Given the description of an element on the screen output the (x, y) to click on. 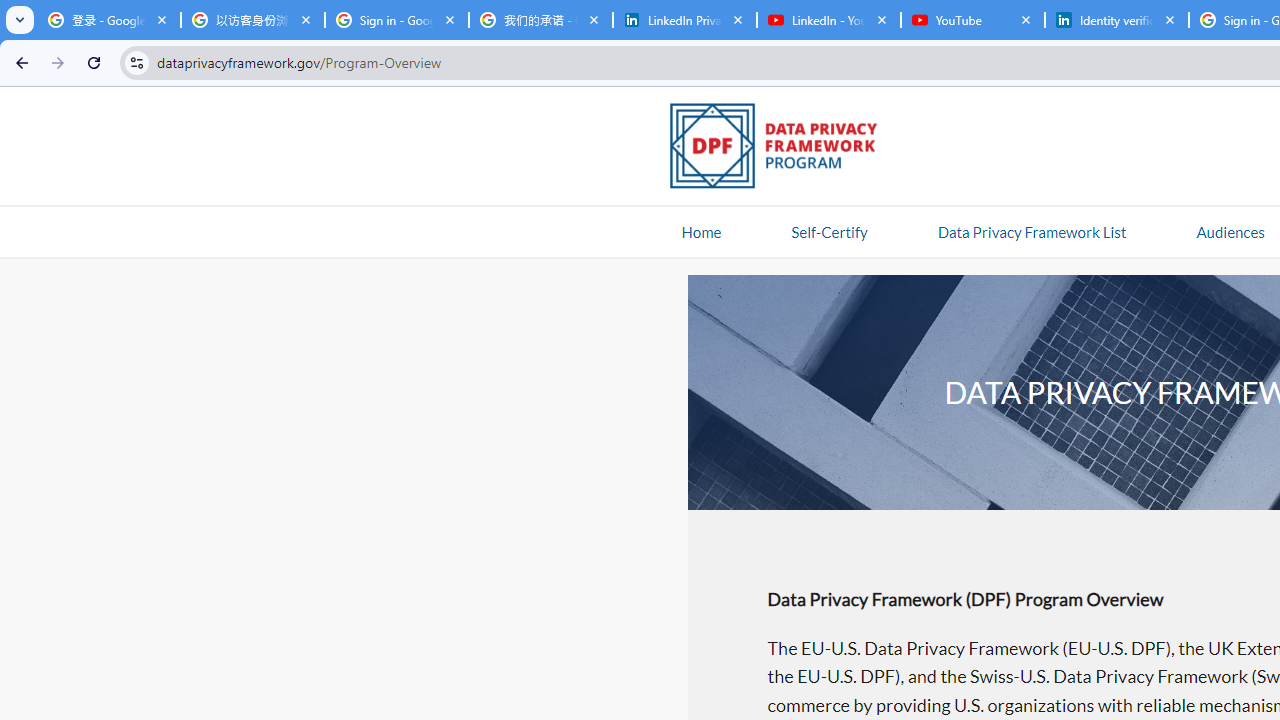
Audiences (1230, 231)
Sign in - Google Accounts (396, 20)
Data Privacy Framework List (1031, 231)
Data Privacy Framework Logo - Link to Homepage (783, 149)
AutomationID: navitem (1230, 231)
Home (701, 231)
Self-Certify (829, 231)
LinkedIn - YouTube (828, 20)
